Given the description of an element on the screen output the (x, y) to click on. 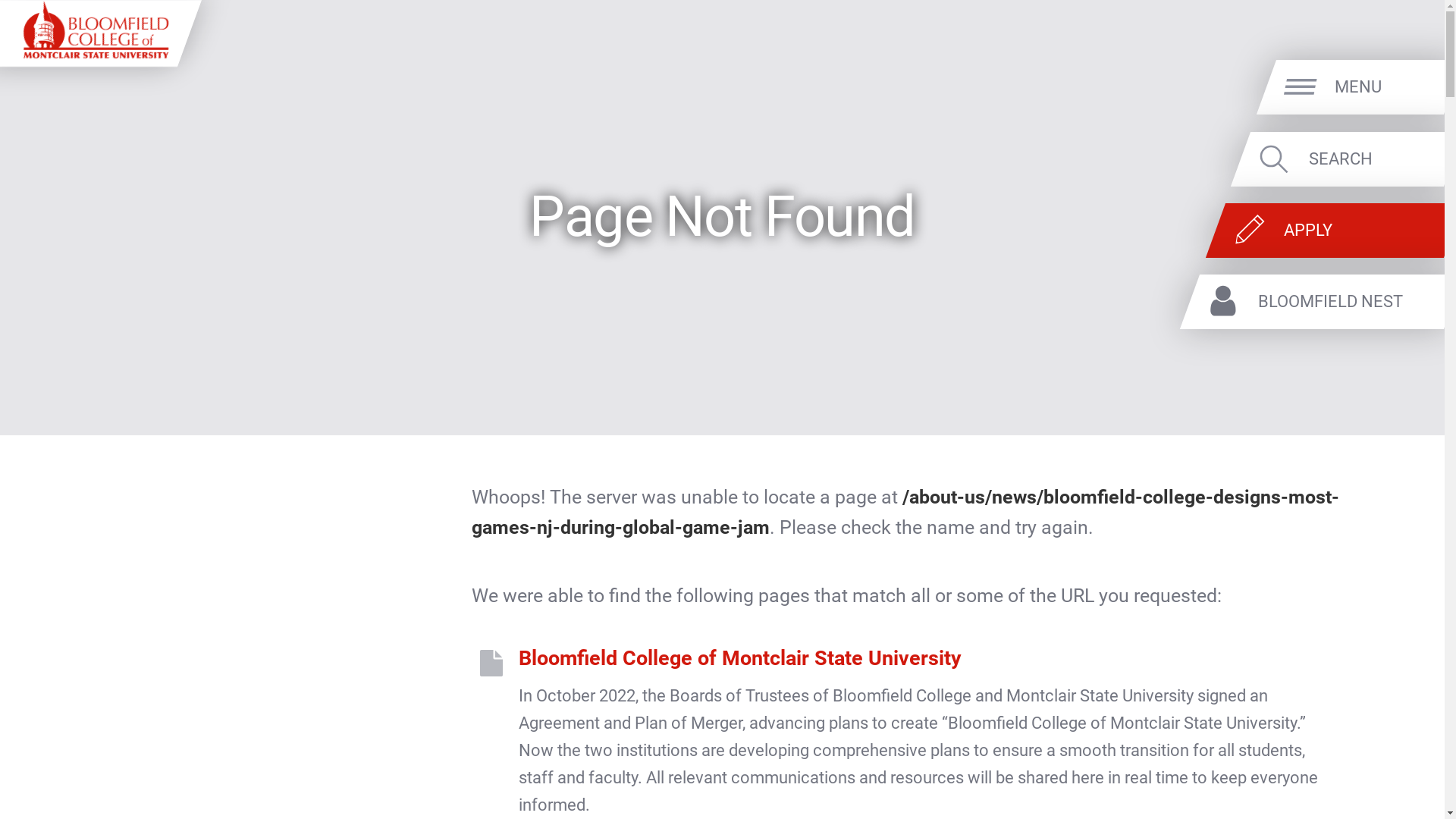
SEARCH (1371, 158)
APPLY (1358, 230)
BLOOMFIELD NEST (1346, 301)
MENU (1384, 86)
